Given the description of an element on the screen output the (x, y) to click on. 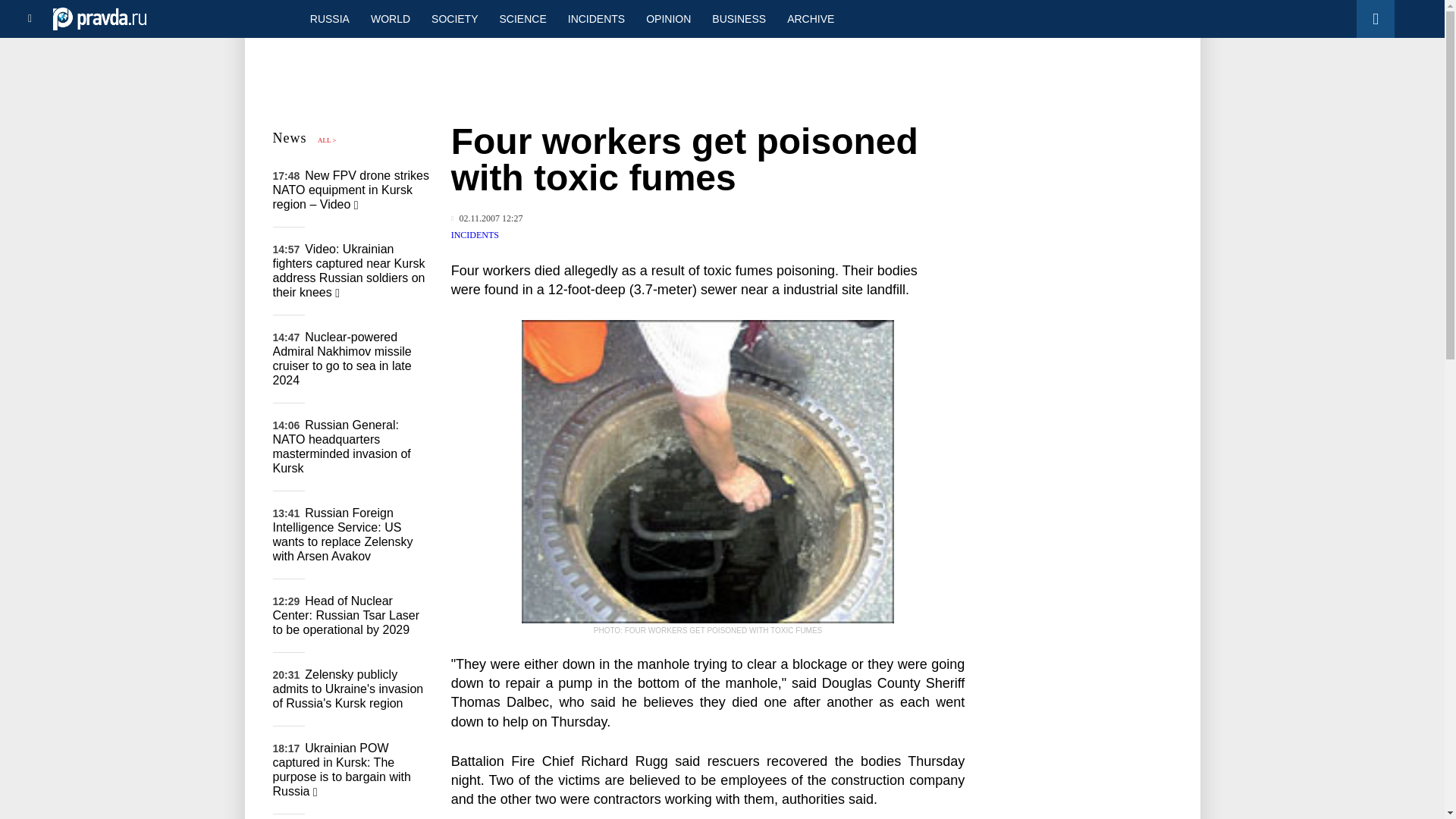
Four workers get poisoned with toxic fumes (707, 471)
Published (486, 218)
ARCHIVE (810, 18)
RUSSIA (329, 18)
INCIDENTS (595, 18)
